Given the description of an element on the screen output the (x, y) to click on. 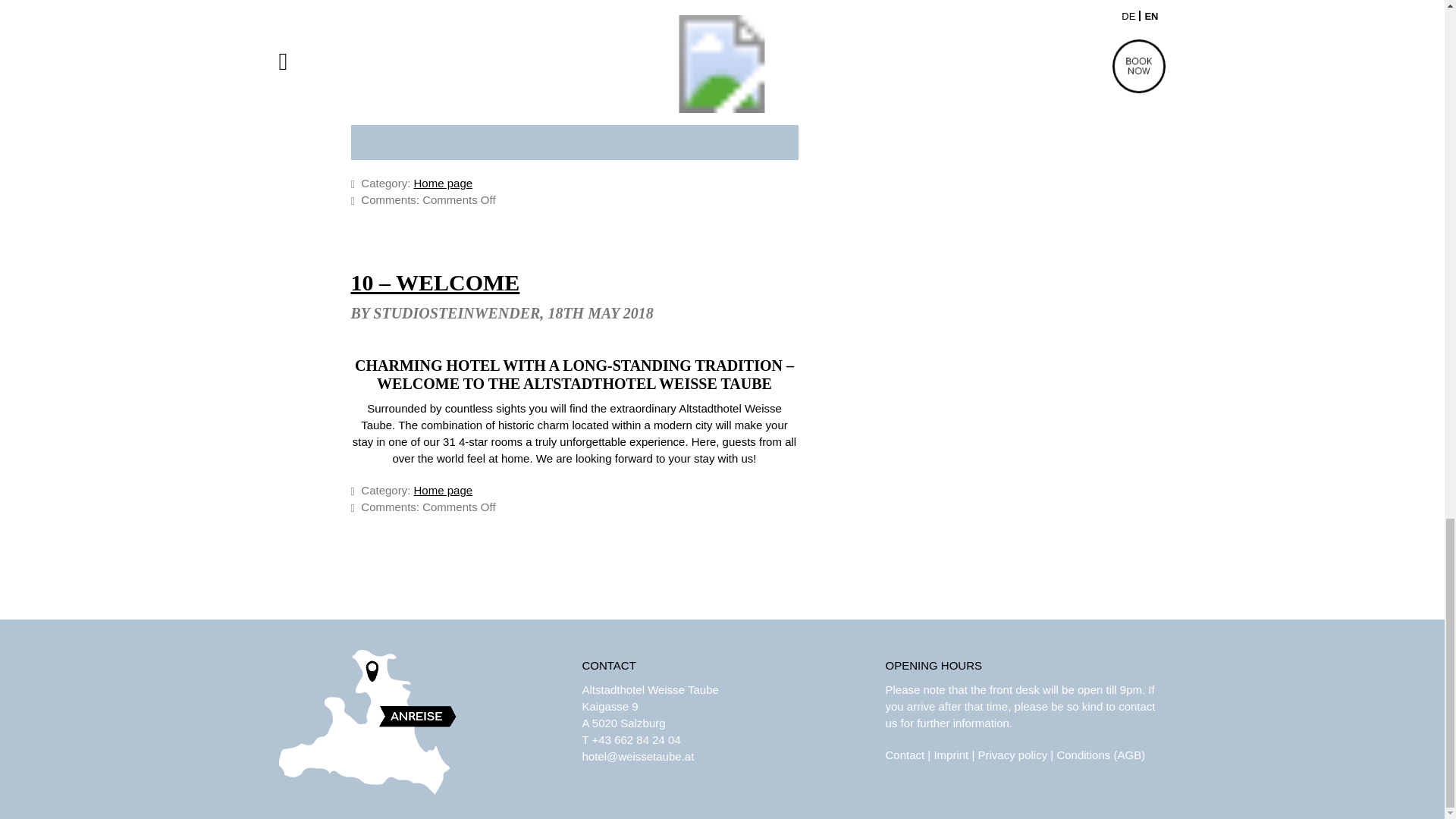
Privacy policy (1011, 754)
Contact (904, 754)
Imprint (950, 754)
Home page (443, 490)
Home page (443, 182)
